Given the description of an element on the screen output the (x, y) to click on. 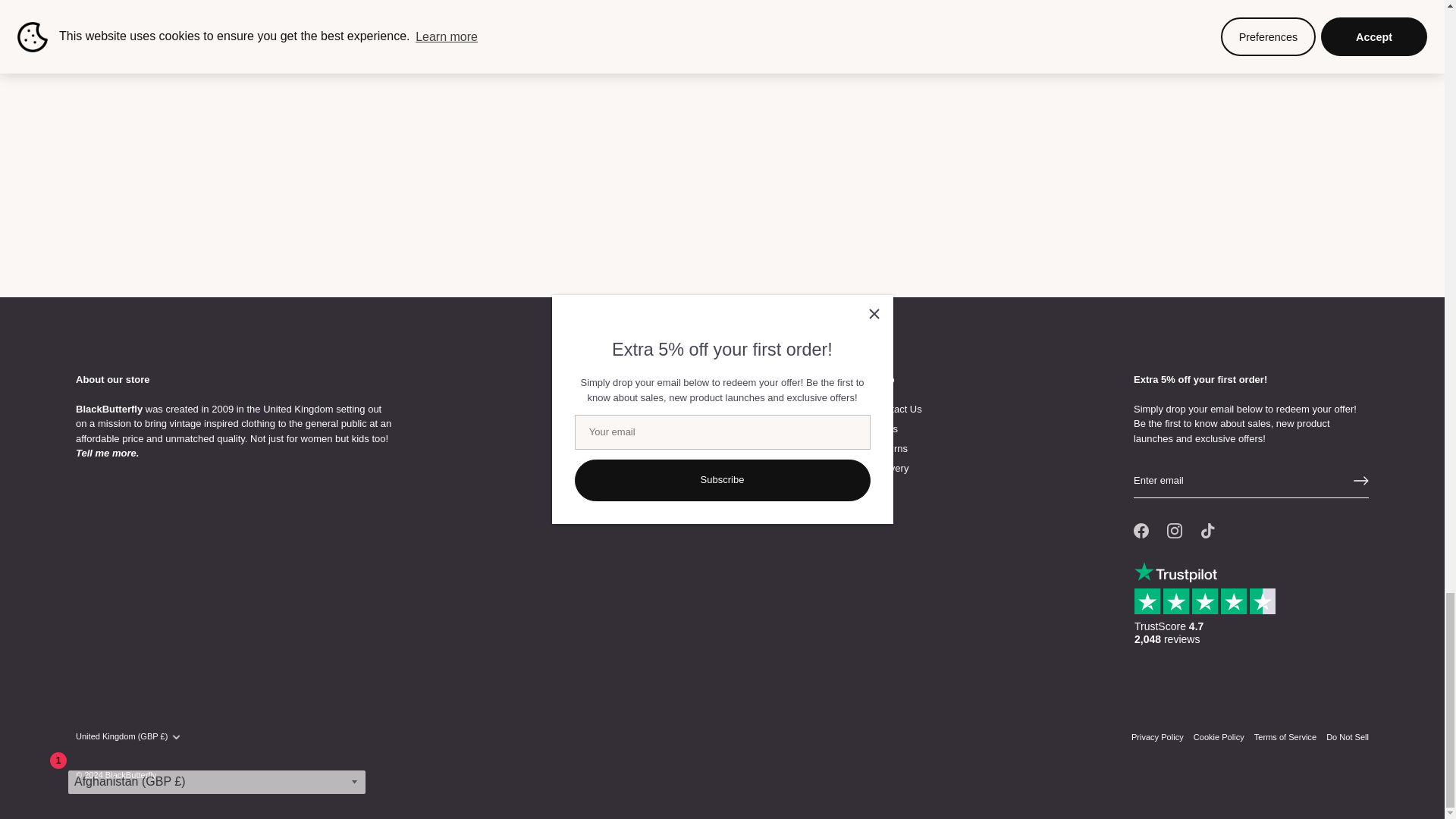
About Us (106, 403)
Customer reviews powered by Trustpilot (1209, 558)
Instagram (1174, 481)
Right arrow long (1361, 431)
